Given the description of an element on the screen output the (x, y) to click on. 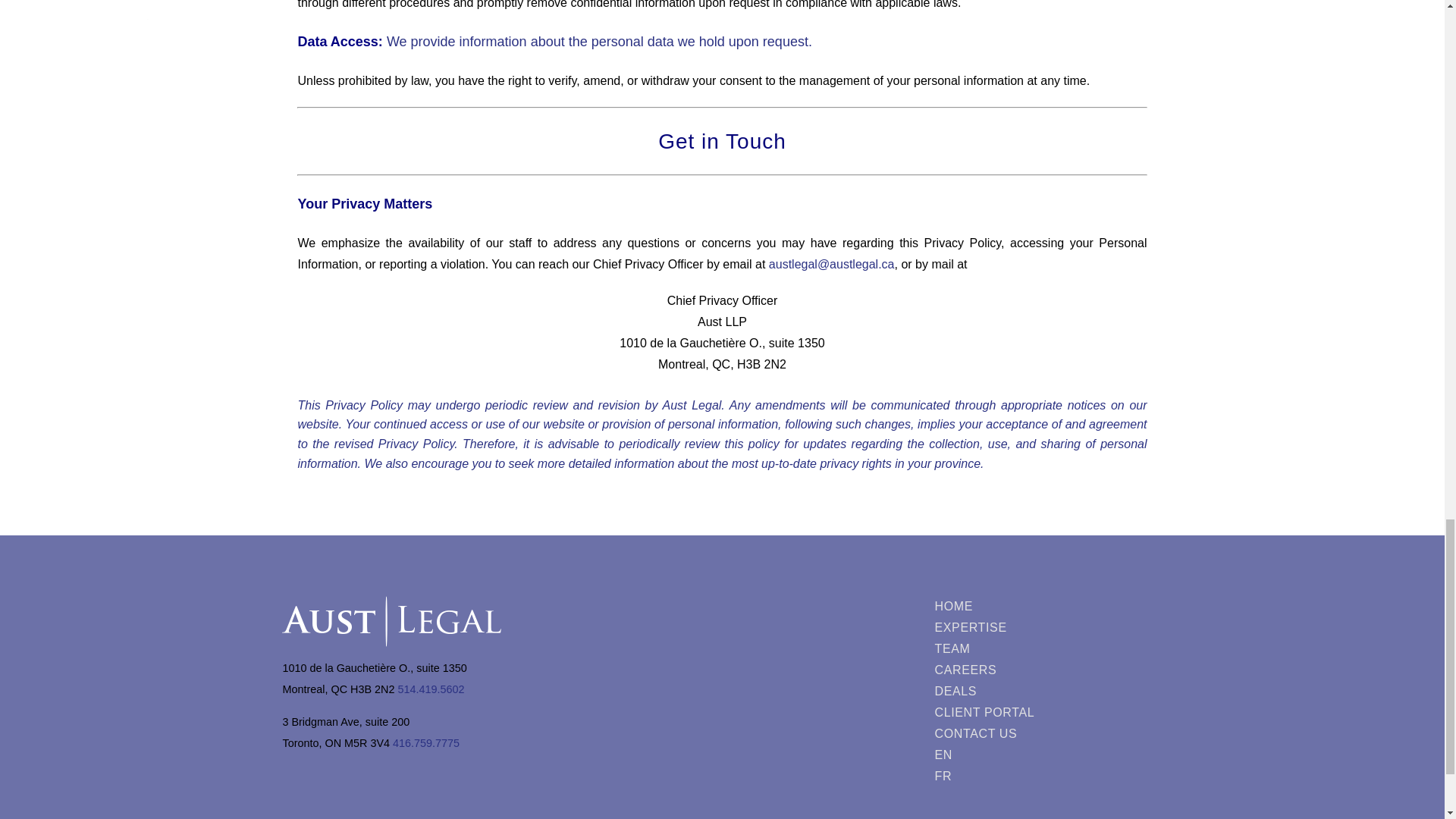
CAREERS (987, 670)
FR (987, 776)
EXPERTISE (987, 627)
EN (987, 754)
416.759.7775 (426, 743)
TEAM (987, 649)
CLIENT PORTAL (987, 712)
HOME (987, 606)
514.419.5602 (430, 689)
DEALS (987, 690)
CONTACT US (987, 733)
